Given the description of an element on the screen output the (x, y) to click on. 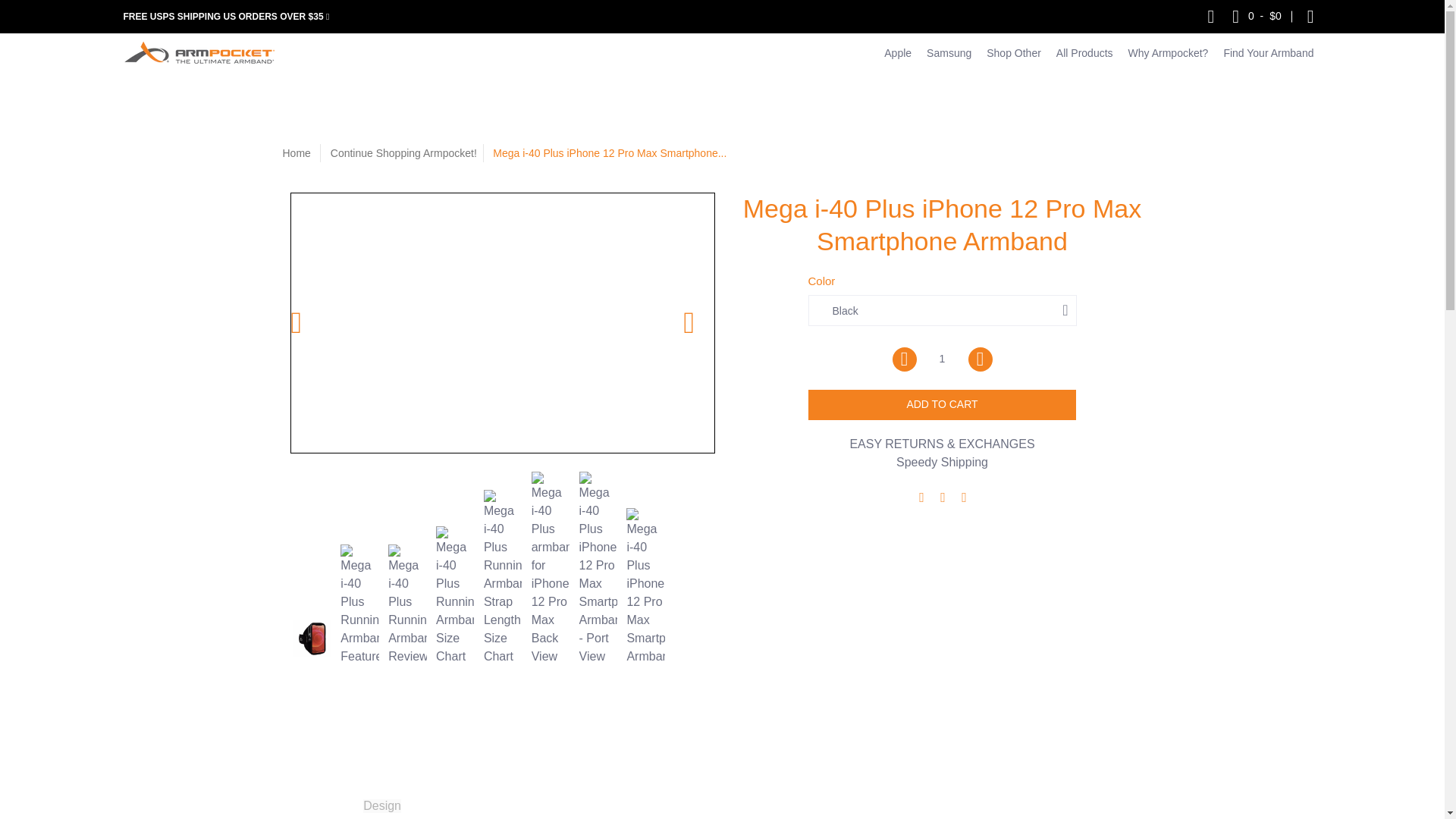
Log in (1310, 16)
Cart (1256, 16)
Apple  (897, 52)
Armpocket (198, 52)
Apple (897, 52)
1 (941, 358)
ADD TO CART (941, 404)
